Given the description of an element on the screen output the (x, y) to click on. 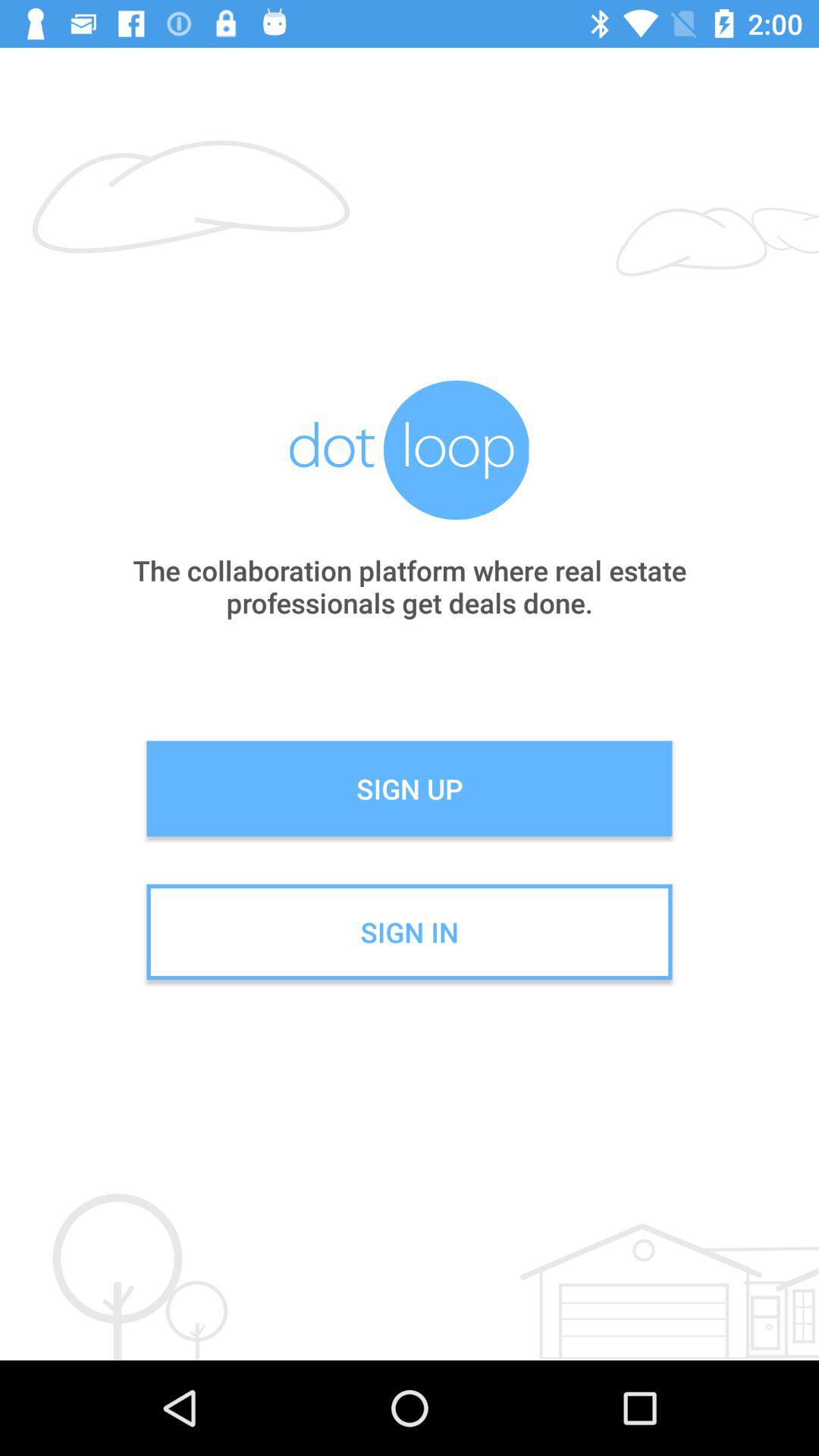
flip to sign in icon (409, 931)
